Given the description of an element on the screen output the (x, y) to click on. 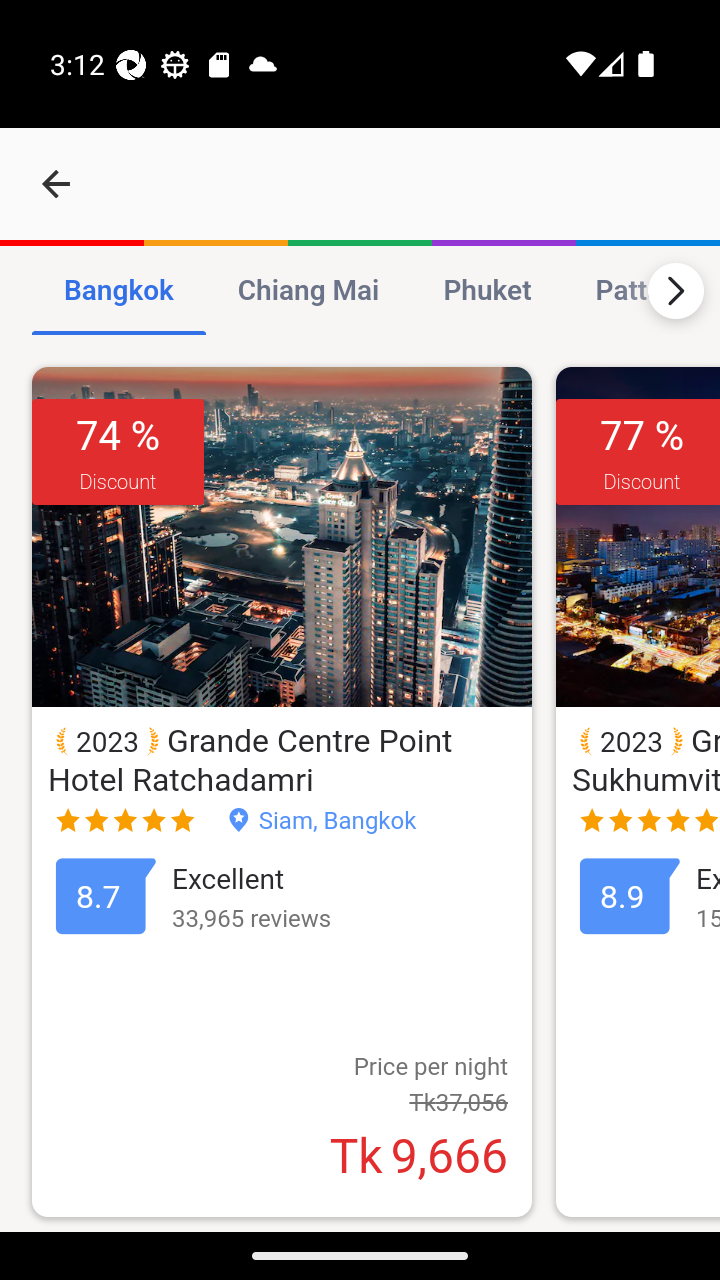
navigation_button (56, 184)
Bangkok (119, 291)
Chiang Mai (307, 291)
Phuket (486, 291)
